Given the description of an element on the screen output the (x, y) to click on. 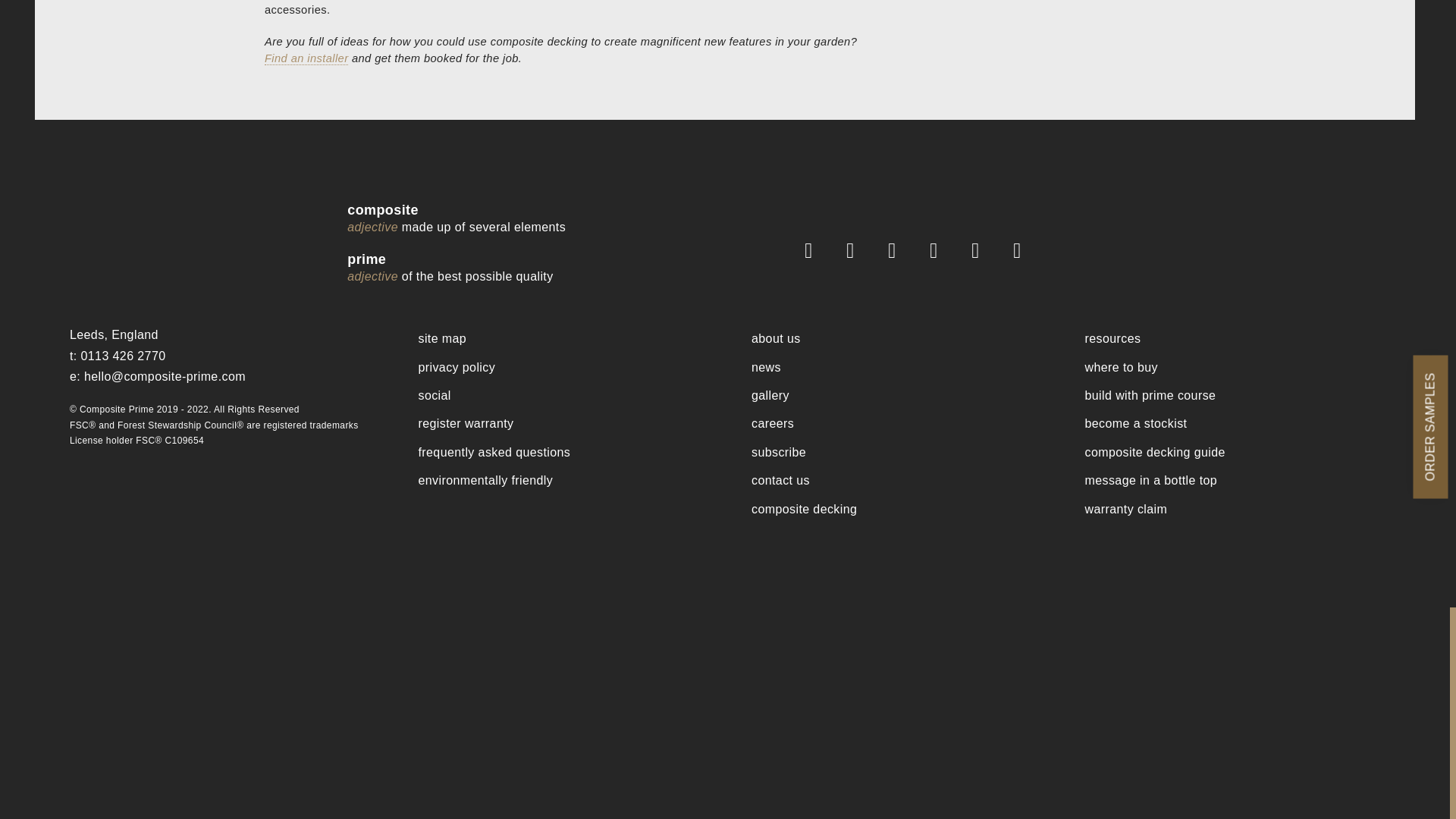
click to instagram visit (981, 250)
click to youtube visit (1024, 250)
HTA (613, 700)
Riba Product Selector (727, 633)
NBS (797, 633)
click to facebook visit (814, 250)
click to linkedin visit (898, 250)
click to pinterest visit (939, 250)
NBS BIM (868, 633)
click to twitter visit (856, 250)
TTF - Timber Trade Federation (650, 633)
